Given the description of an element on the screen output the (x, y) to click on. 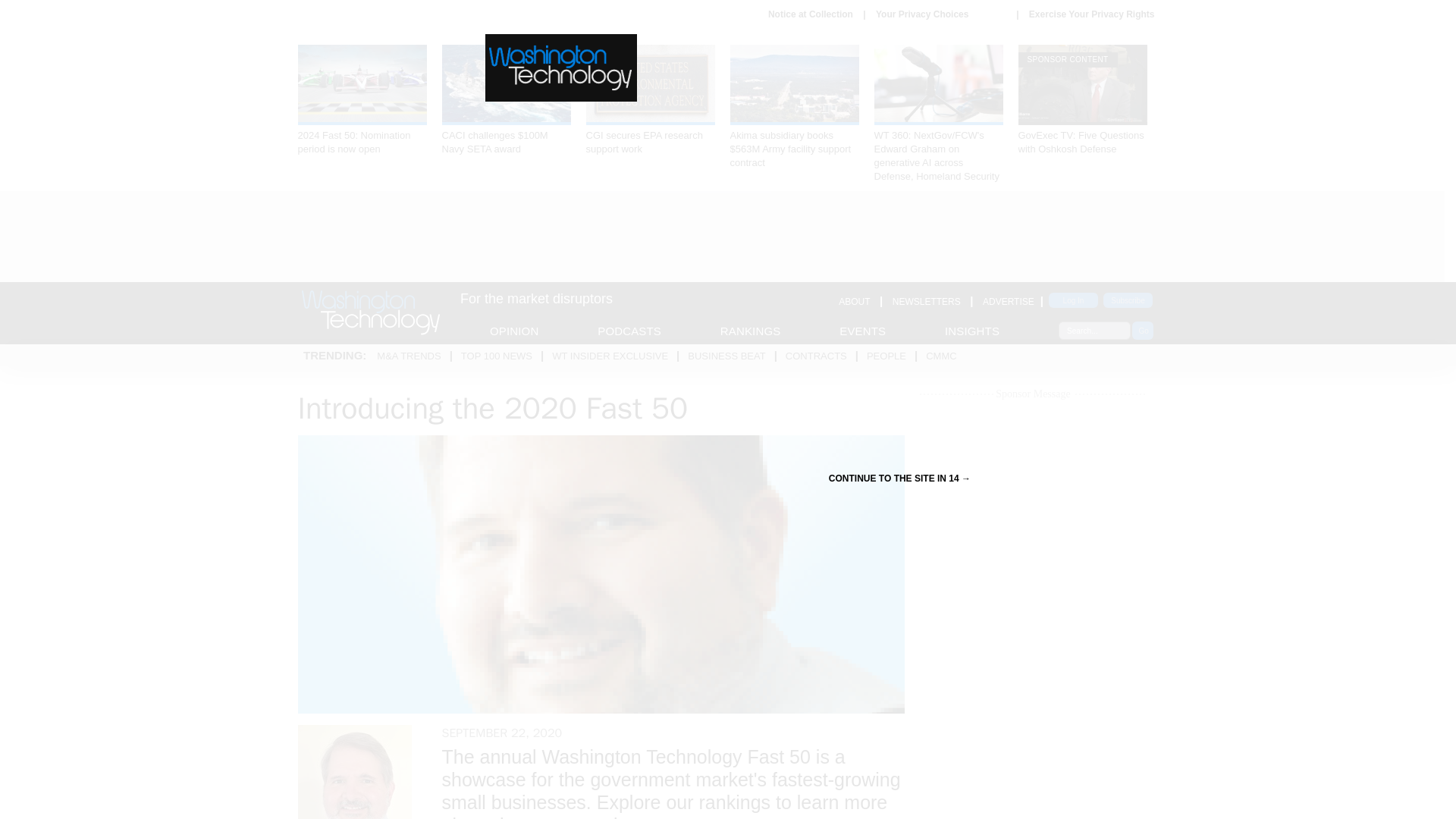
Exercise Your Privacy Rights (1091, 14)
ADVERTISE (1007, 301)
3rd party ad content (721, 236)
ABOUT (853, 301)
Go (1142, 330)
EVENTS (862, 330)
2024 Fast 50: Nomination period is now open (361, 100)
OPINION (513, 330)
RANKINGS (750, 330)
CGI secures EPA research support work (649, 100)
PODCASTS (628, 330)
INSIGHTS (971, 330)
